Given the description of an element on the screen output the (x, y) to click on. 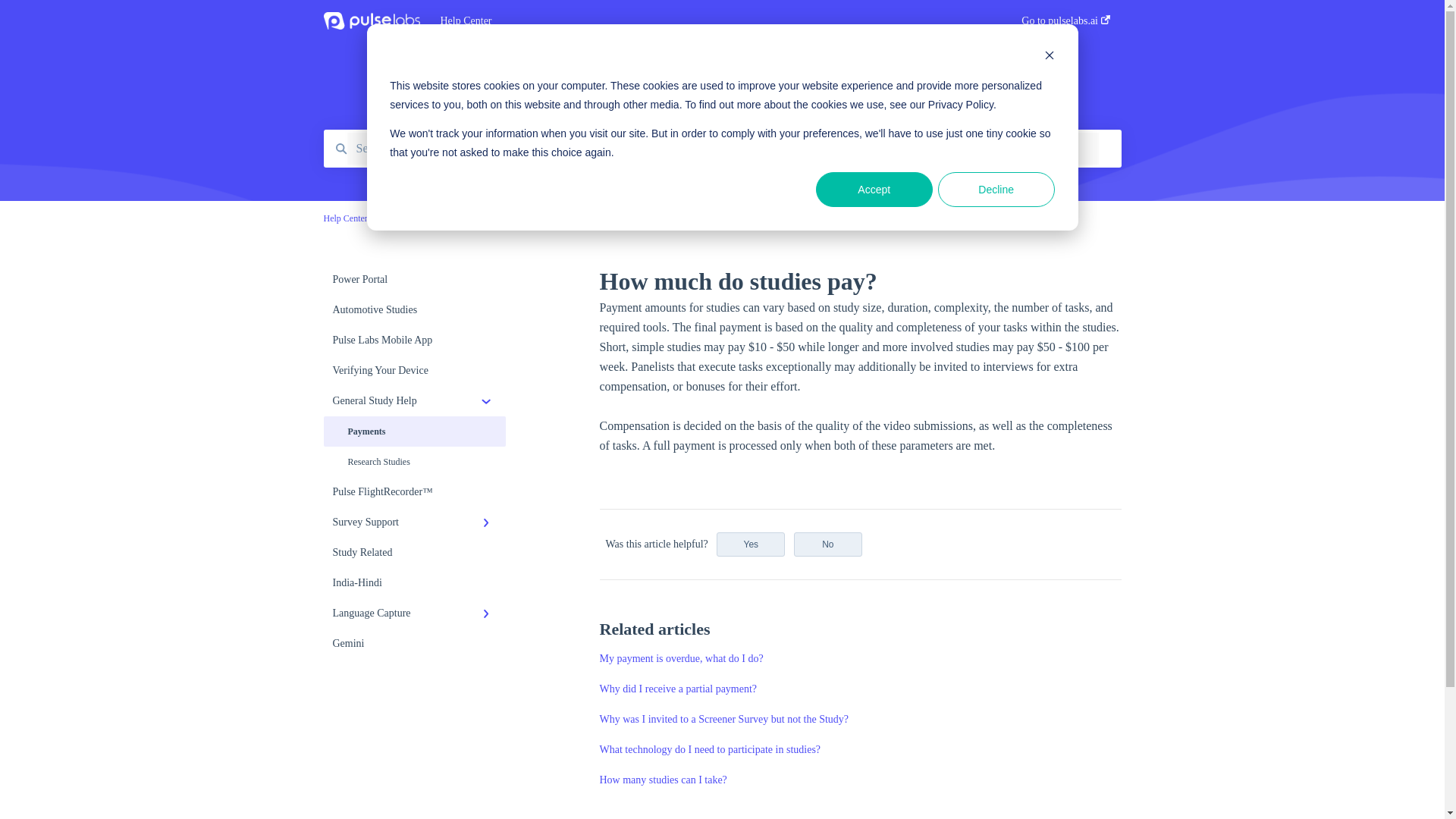
General Study Help (414, 400)
Pulse Labs Mobile App (414, 340)
Survey Support (414, 521)
Help Center (707, 21)
Help Center (344, 217)
Power Portal (414, 279)
Verifying Your Device (414, 370)
Research Studies (414, 461)
Go to pulselabs.ai (1065, 25)
Automotive Studies (414, 309)
